Given the description of an element on the screen output the (x, y) to click on. 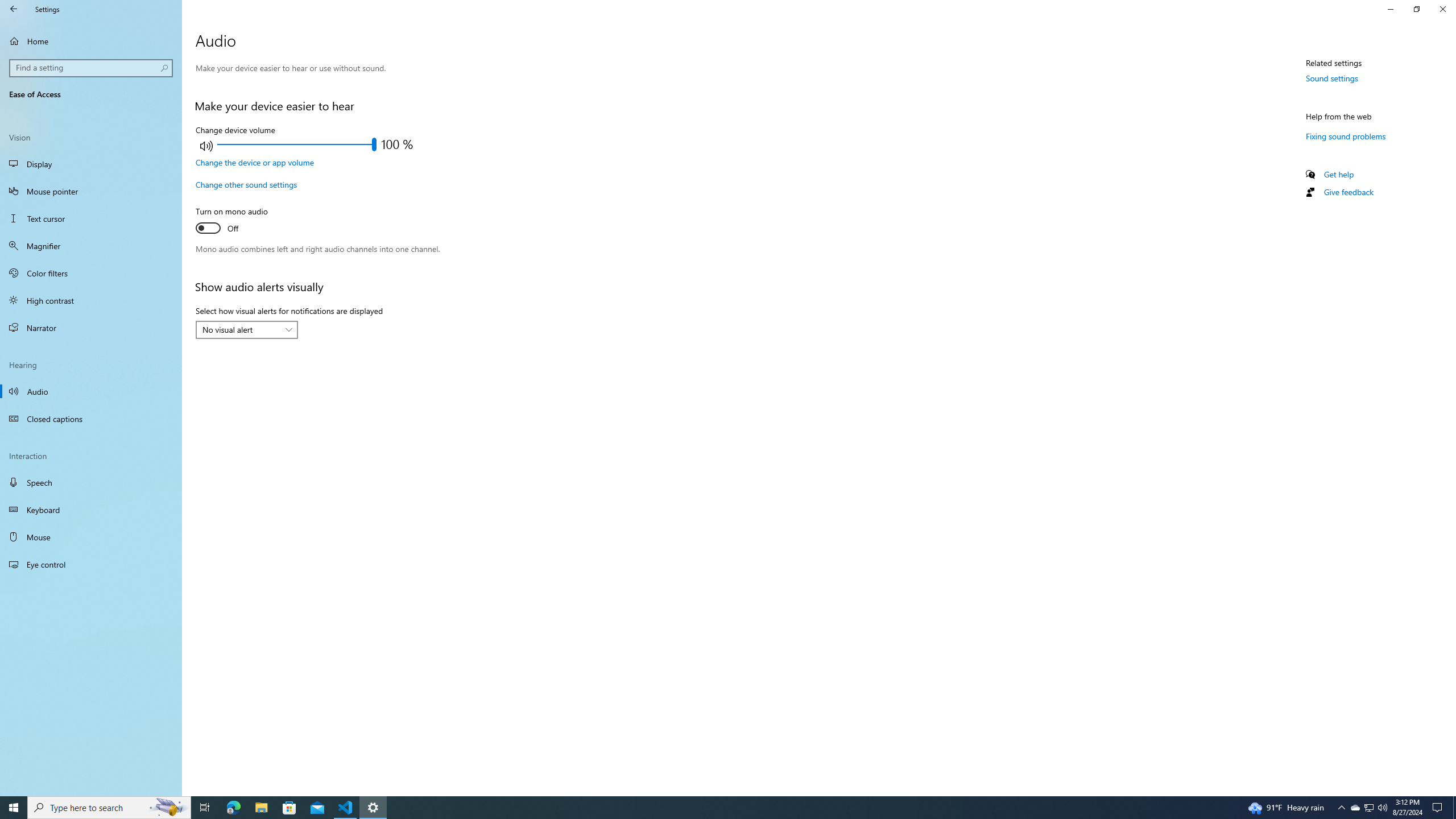
High contrast (91, 299)
Get help (1338, 173)
Search box, Find a setting (91, 67)
Give feedback (1348, 191)
Restore Settings (1416, 9)
Turn on mono audio (237, 221)
Fixing sound problems (1346, 136)
